Given the description of an element on the screen output the (x, y) to click on. 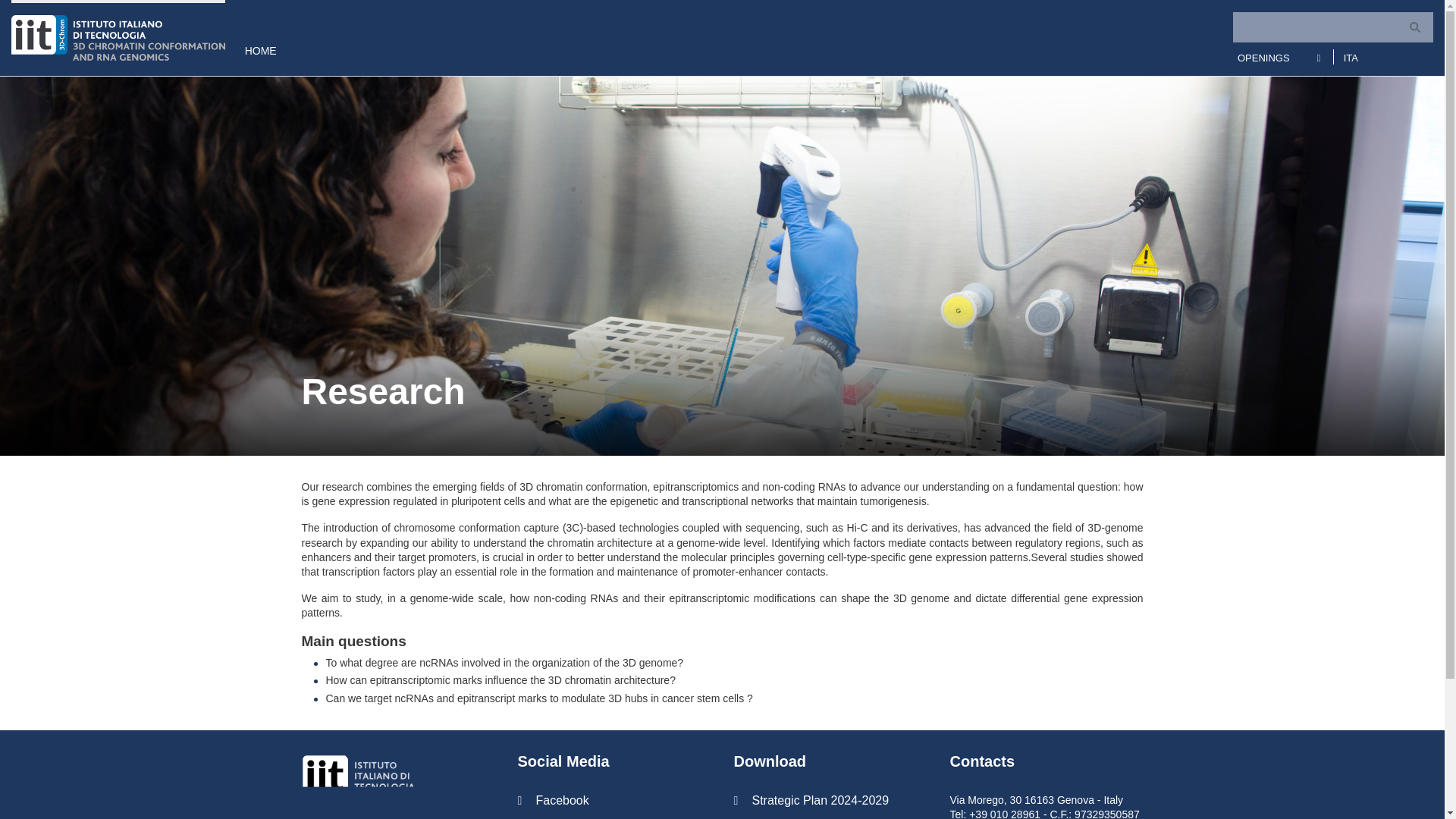
Strategic Plan 2024-2029 (830, 800)
Facebook (613, 800)
OPENINGS (1263, 56)
